Given the description of an element on the screen output the (x, y) to click on. 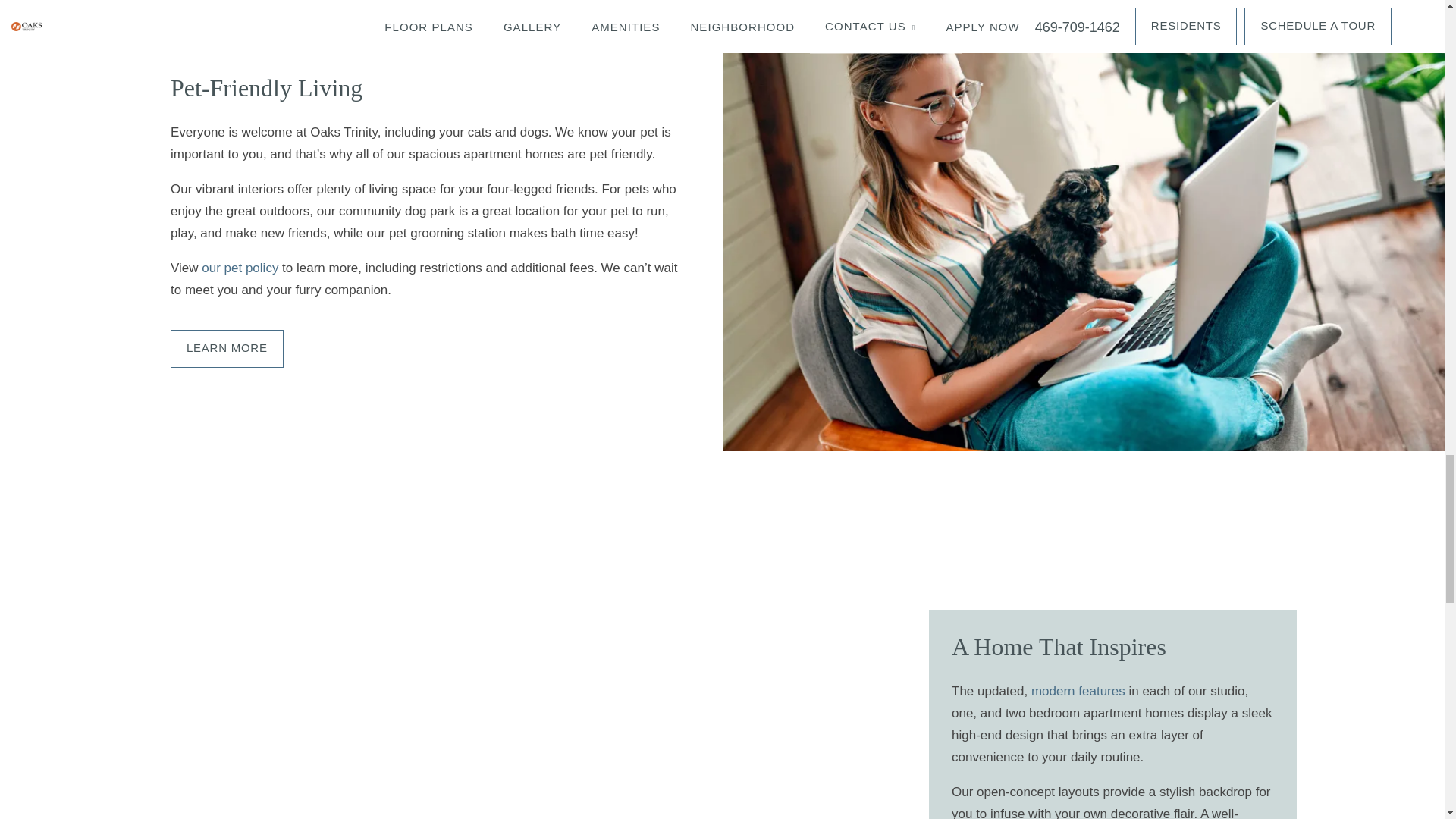
our pet policy (240, 268)
LEARN MORE (226, 348)
modern features (1077, 690)
